Given the description of an element on the screen output the (x, y) to click on. 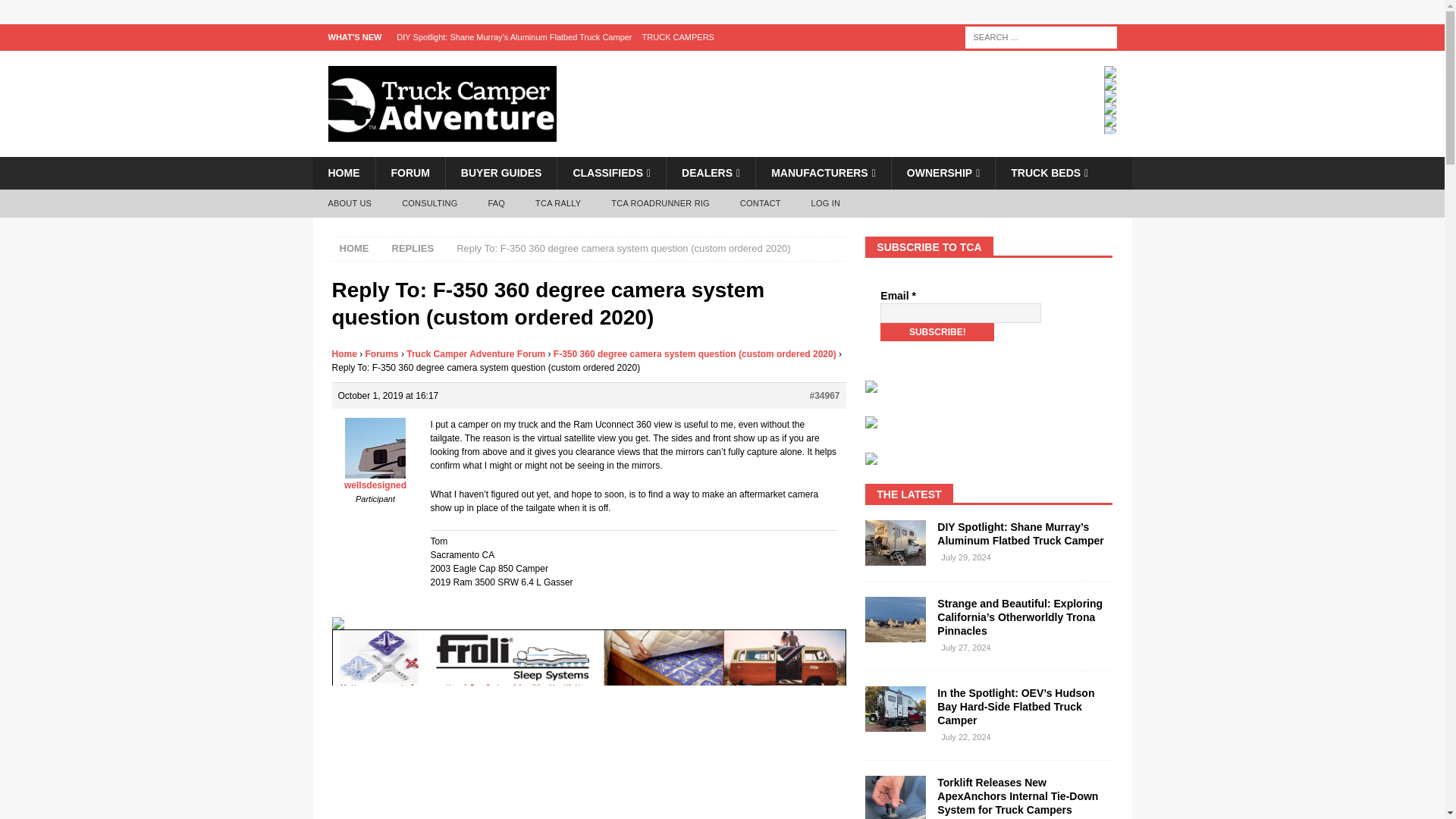
Search (56, 11)
DEALERS (710, 173)
Subscribe! (937, 331)
Email (960, 312)
BUYER GUIDES (501, 173)
HOME (343, 173)
CLASSIFIEDS (610, 173)
FORUM (409, 173)
View wellsdesigned's profile (375, 479)
